Given the description of an element on the screen output the (x, y) to click on. 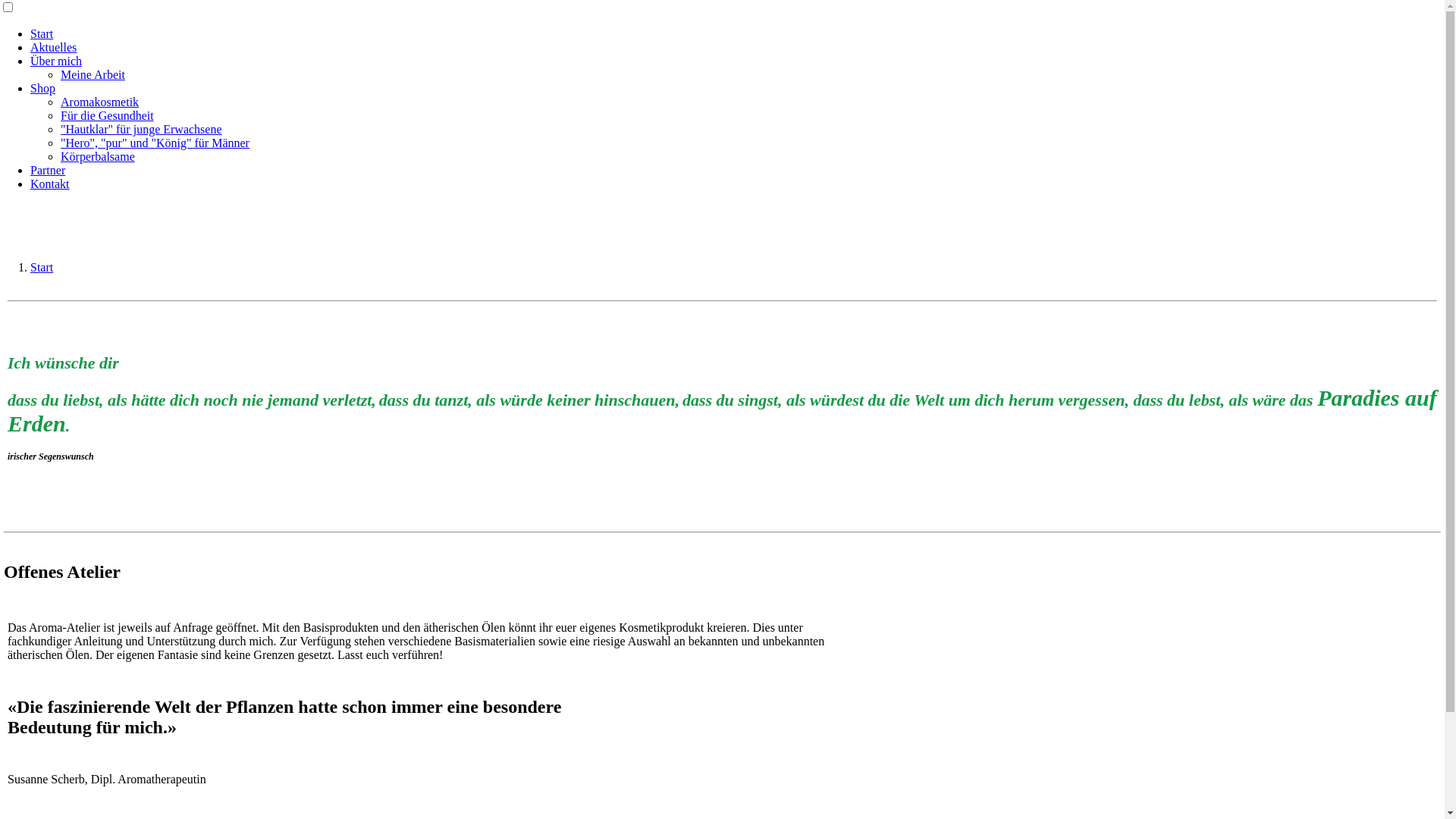
Meine Arbeit Element type: text (92, 74)
Shop Element type: text (42, 87)
Kontakt Element type: text (49, 183)
Start Element type: text (41, 266)
Aromakosmetik Element type: text (99, 101)
Start Element type: text (41, 33)
Aktuelles Element type: text (53, 46)
Partner Element type: text (47, 169)
